Given the description of an element on the screen output the (x, y) to click on. 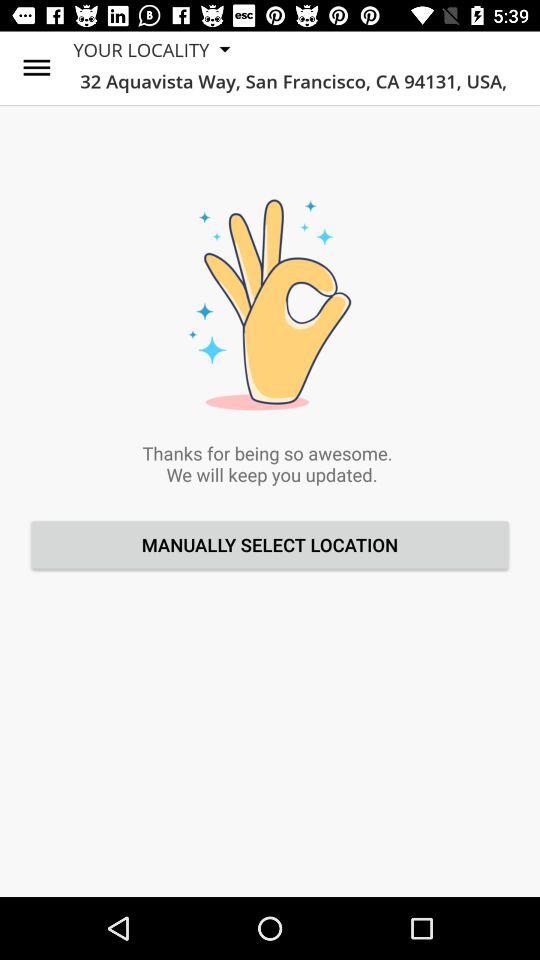
launch icon to the left of your locality icon (36, 68)
